Given the description of an element on the screen output the (x, y) to click on. 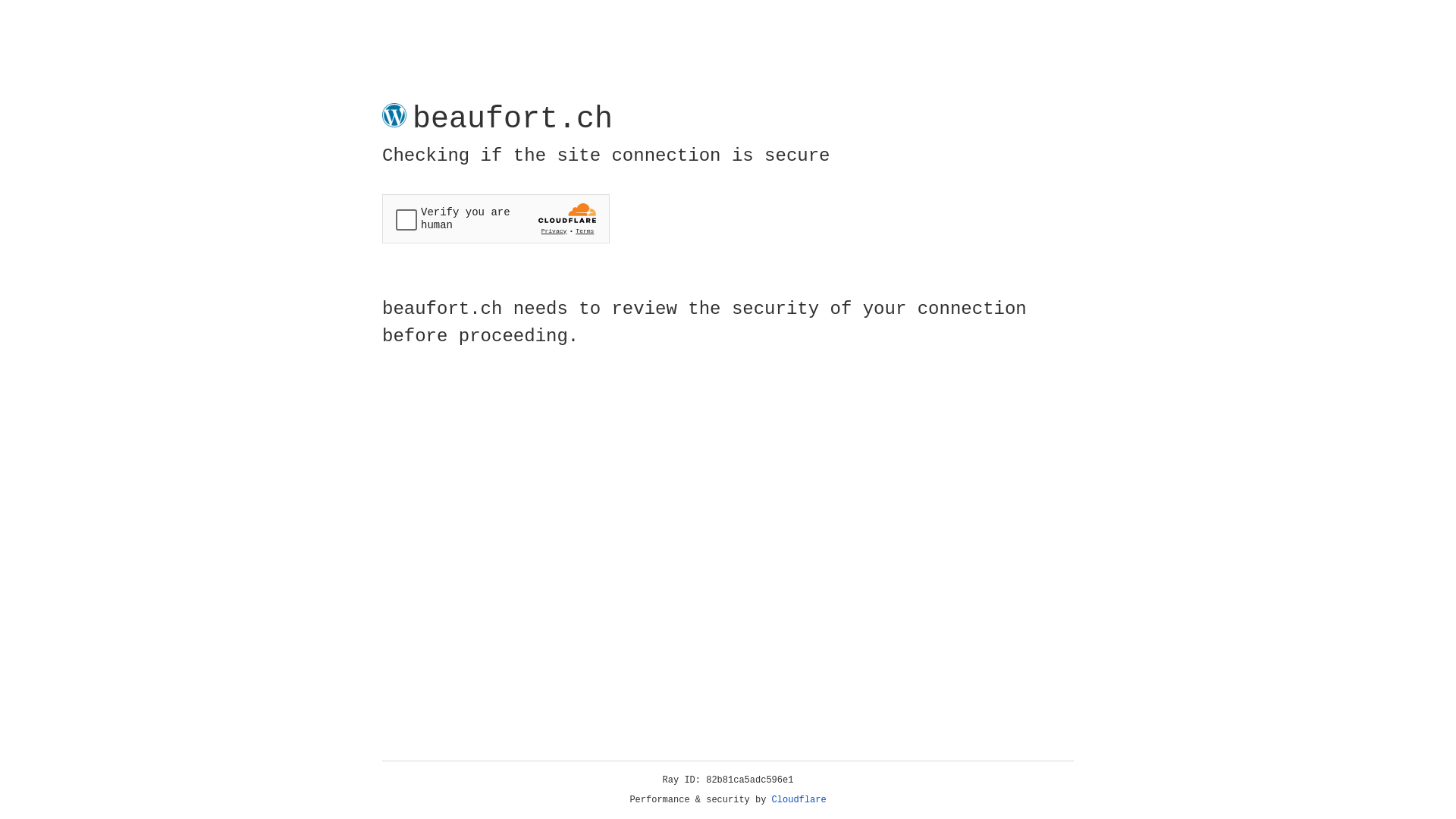
Widget containing a Cloudflare security challenge Element type: hover (495, 218)
Cloudflare Element type: text (798, 799)
